Given the description of an element on the screen output the (x, y) to click on. 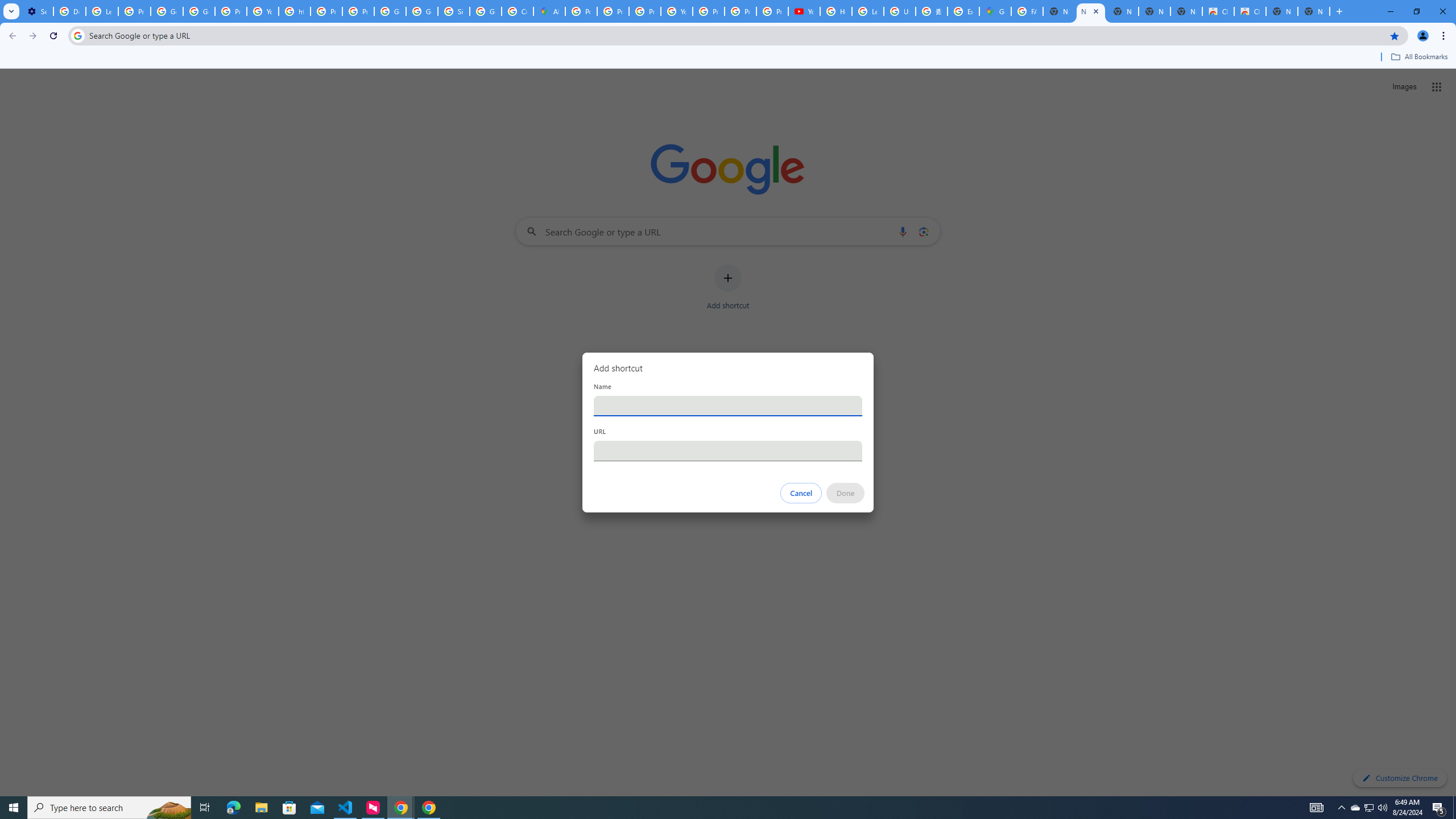
Privacy Help Center - Policies Help (644, 11)
Privacy Help Center - Policies Help (613, 11)
